Given the description of an element on the screen output the (x, y) to click on. 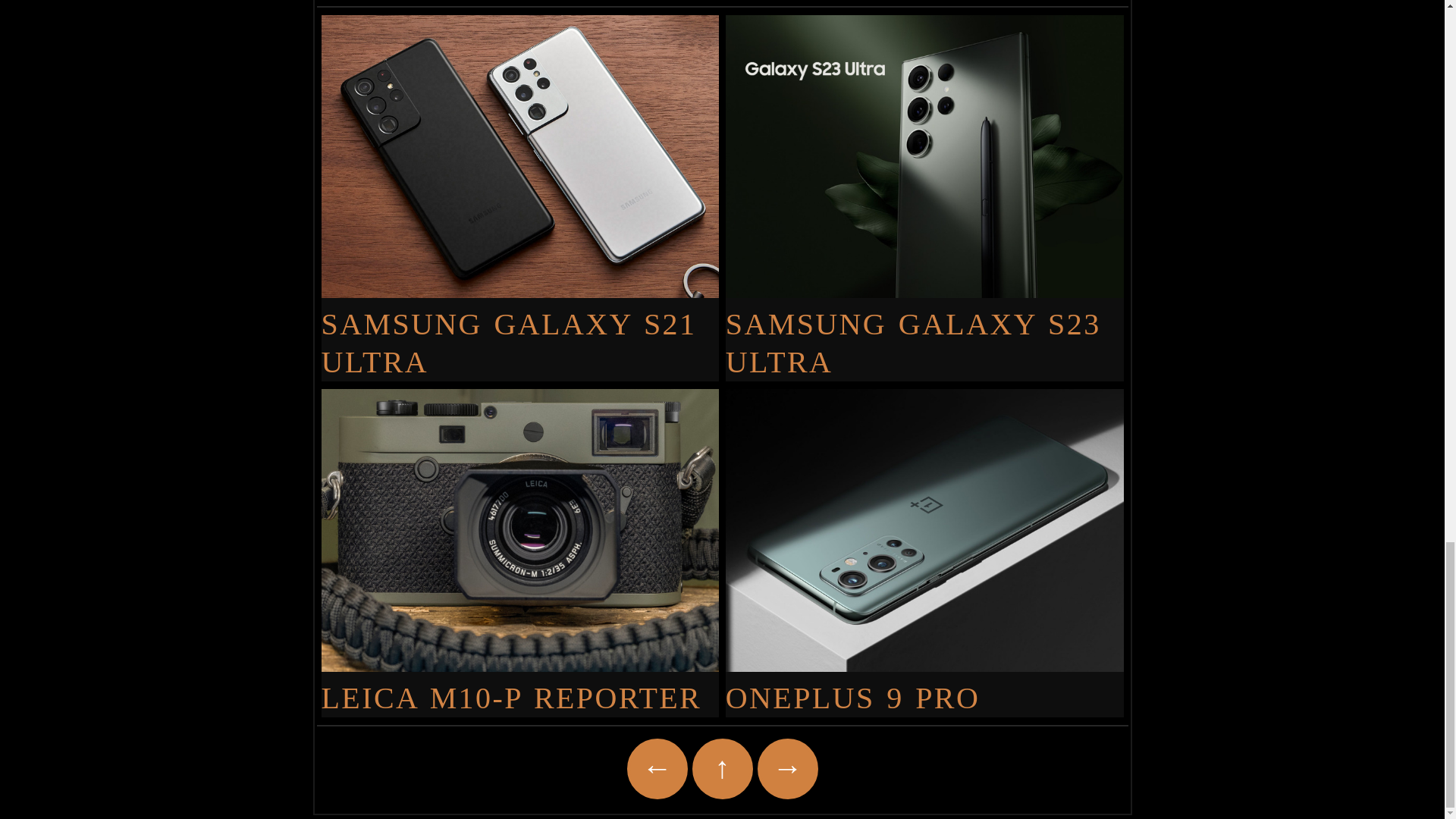
OnePlus 9 Pro (924, 687)
Samsung Galaxy S23 Ultra (924, 332)
SAMSUNG GALAXY S23 ULTRA (924, 332)
SAMSUNG GALAXY S21 ULTRA (520, 332)
ONEPLUS 9 PRO (924, 687)
LEICA M10-P REPORTER (520, 687)
Leica M10-P Reporter (520, 687)
Samsung Galaxy S21 Ultra (520, 332)
